Given the description of an element on the screen output the (x, y) to click on. 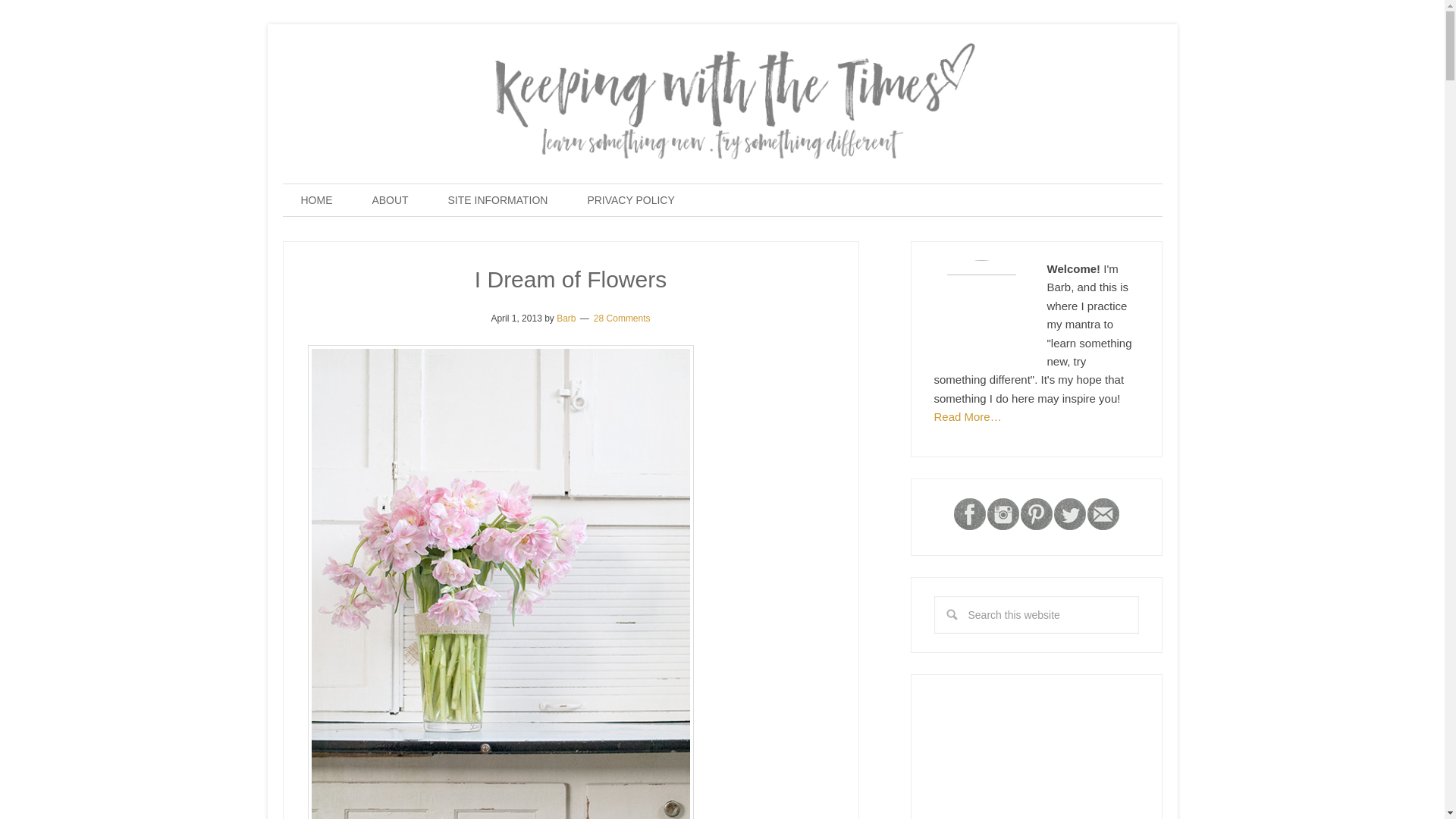
28 Comments (622, 317)
HOME (316, 200)
Advertisement (1047, 755)
ABOUT (389, 200)
Keeping With The Times (721, 105)
SITE INFORMATION (497, 200)
Barb (565, 317)
PRIVACY POLICY (631, 200)
Keeping With The Times (721, 57)
